Given the description of an element on the screen output the (x, y) to click on. 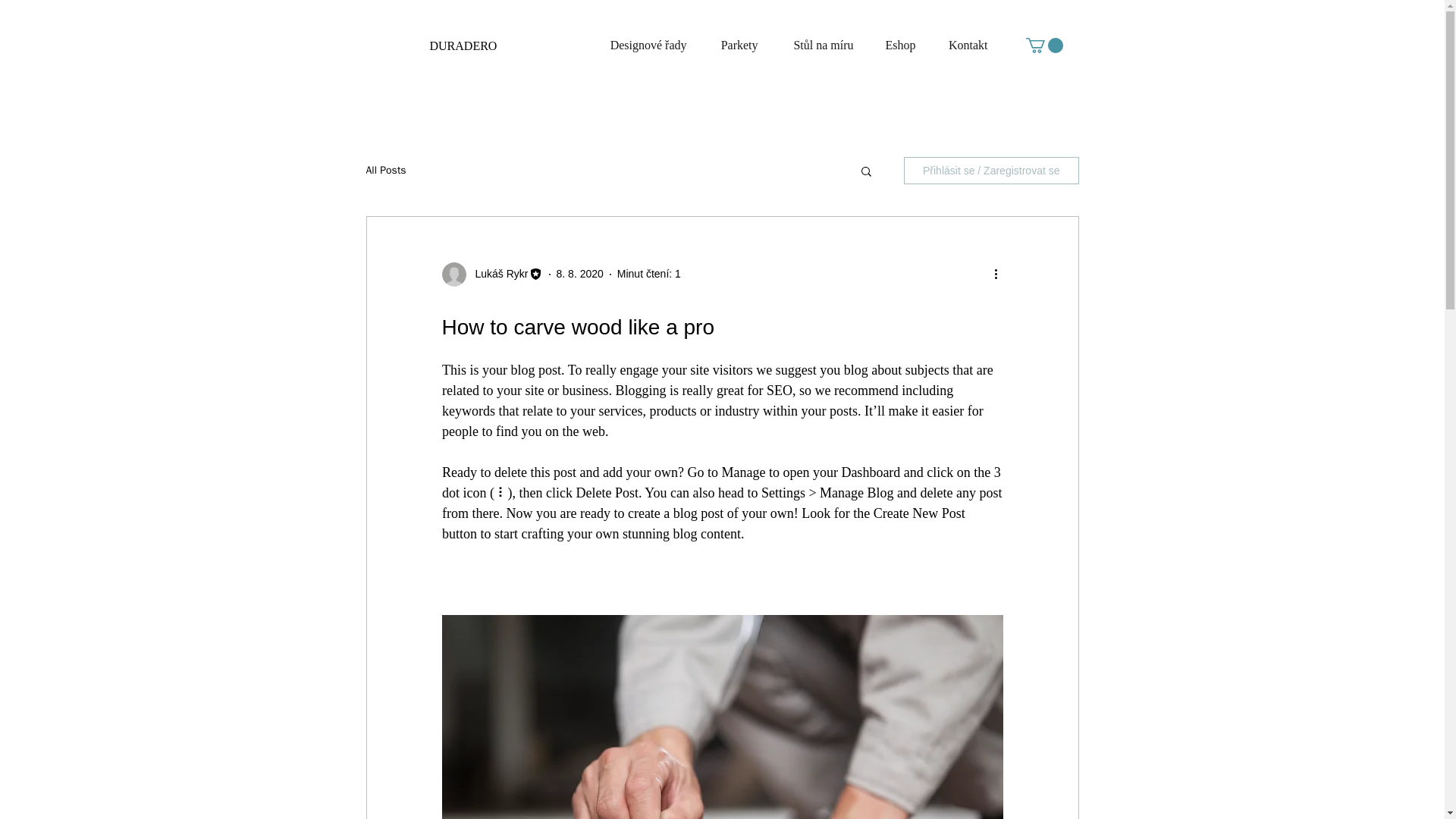
DURADERO (462, 45)
Eshop (892, 45)
All Posts (385, 170)
Parkety (729, 45)
Kontakt (959, 45)
8. 8. 2020 (580, 273)
